Given the description of an element on the screen output the (x, y) to click on. 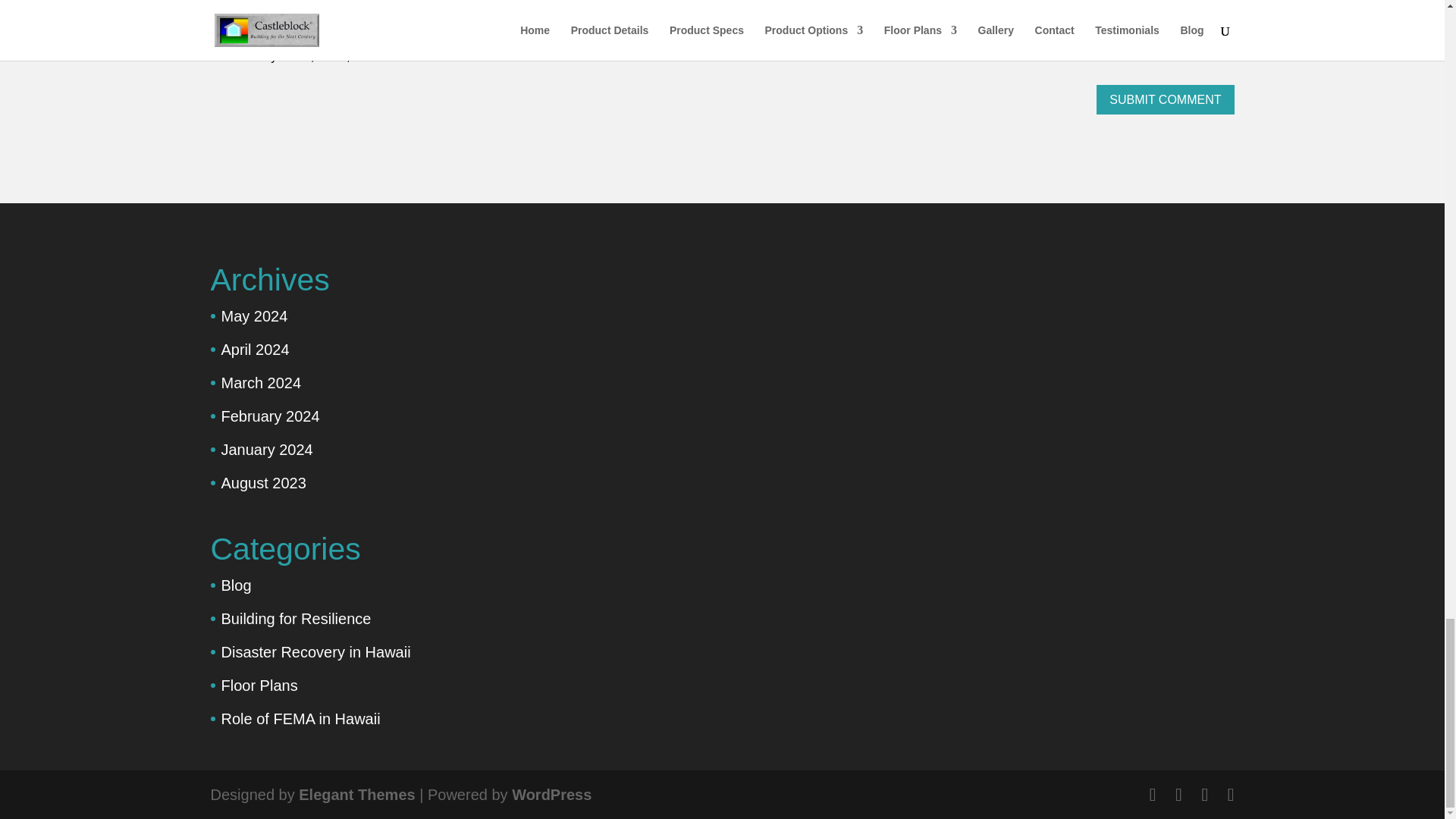
yes (219, 55)
Premium WordPress Themes (356, 793)
